Given the description of an element on the screen output the (x, y) to click on. 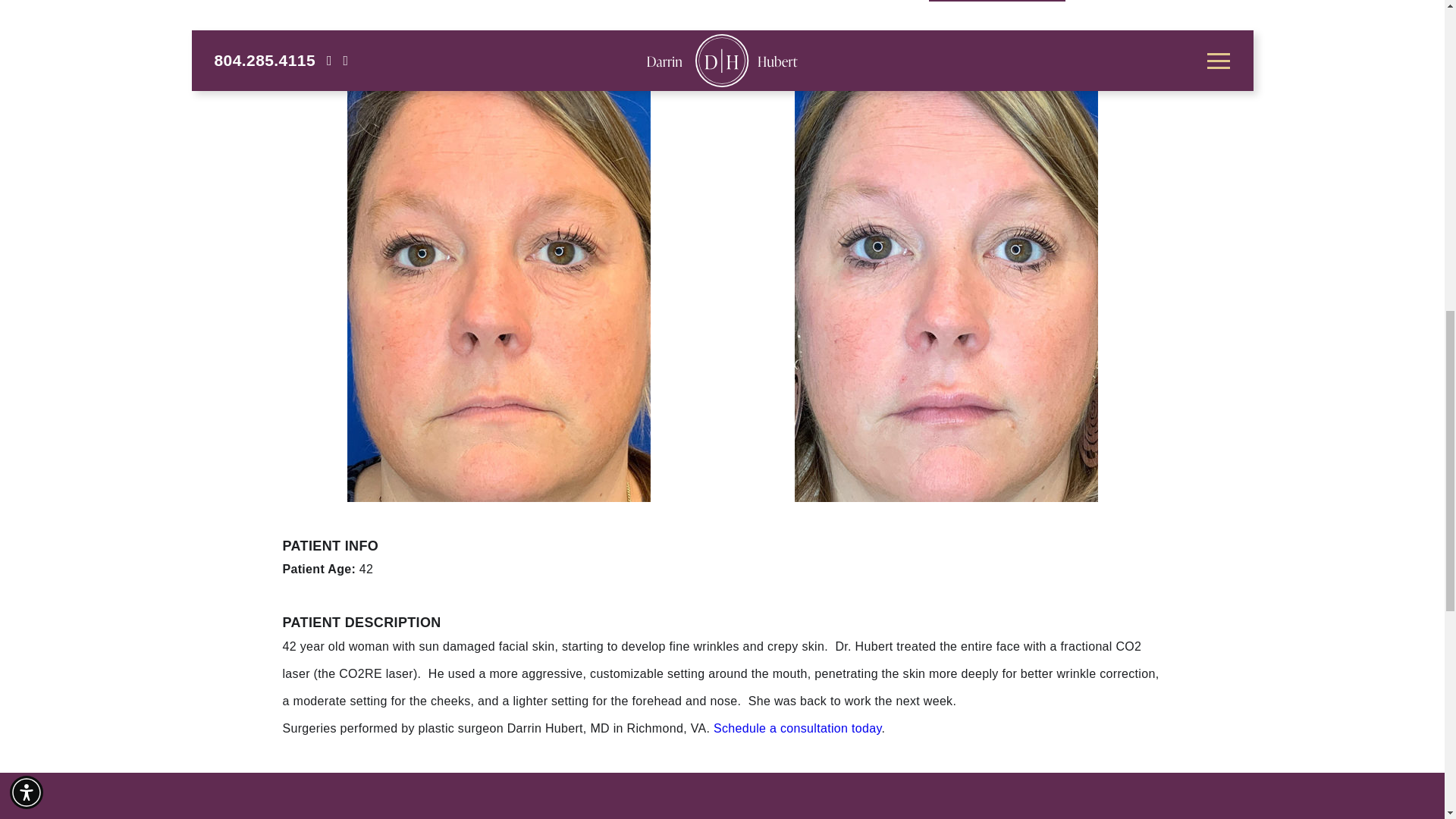
NEXT CASE (996, 0)
Next Laser and Skin Tightening Case (996, 0)
Schedule a consultation today (797, 727)
